Given the description of an element on the screen output the (x, y) to click on. 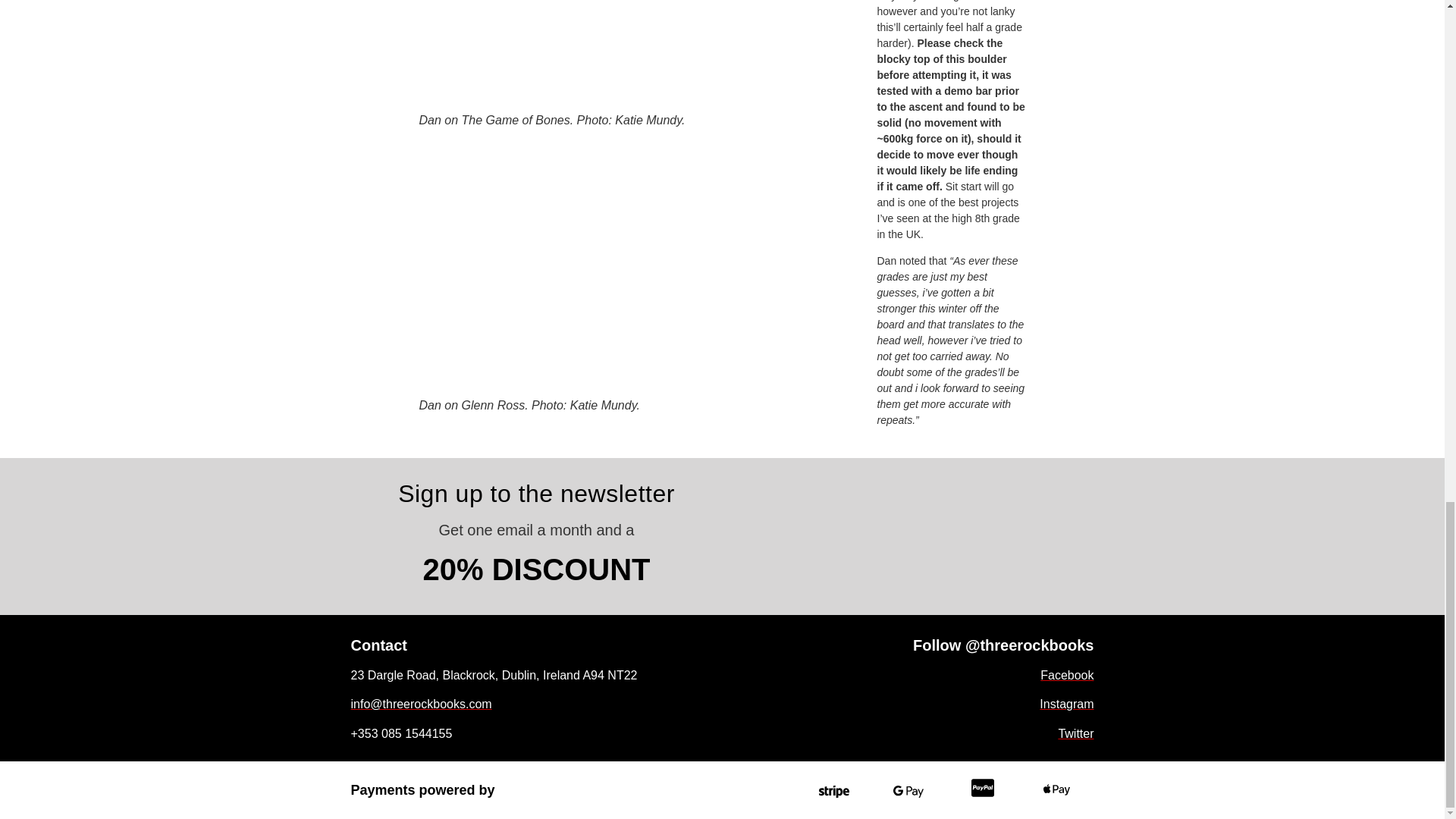
dan3 (640, 56)
dan4 (640, 272)
